Given the description of an element on the screen output the (x, y) to click on. 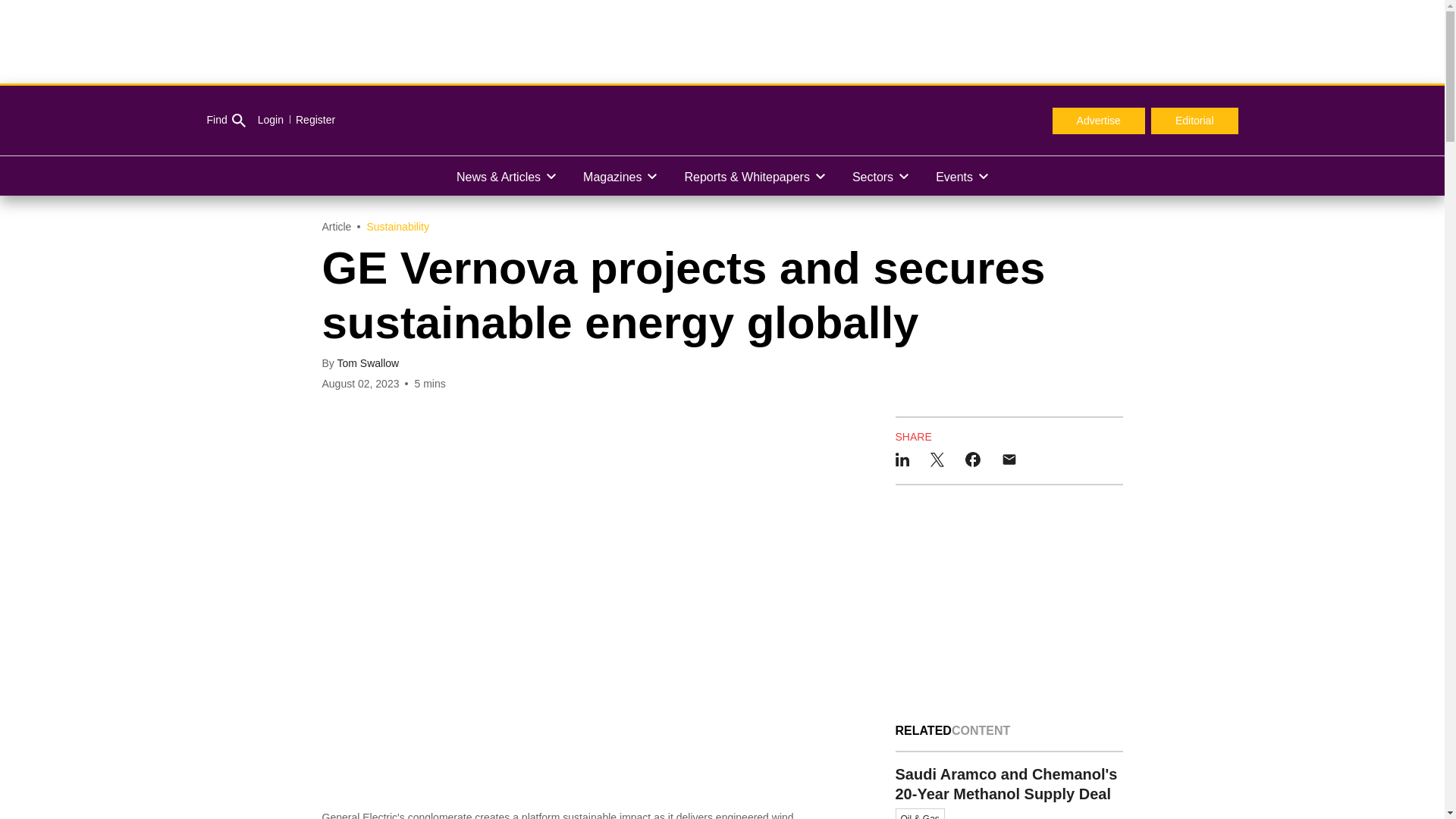
Advertise (1098, 121)
Events (961, 175)
3rd party ad content (1008, 604)
Login (270, 120)
3rd party ad content (721, 41)
Sectors (879, 175)
Find (225, 120)
Magazines (619, 175)
Editorial (1195, 121)
Register (308, 120)
